Given the description of an element on the screen output the (x, y) to click on. 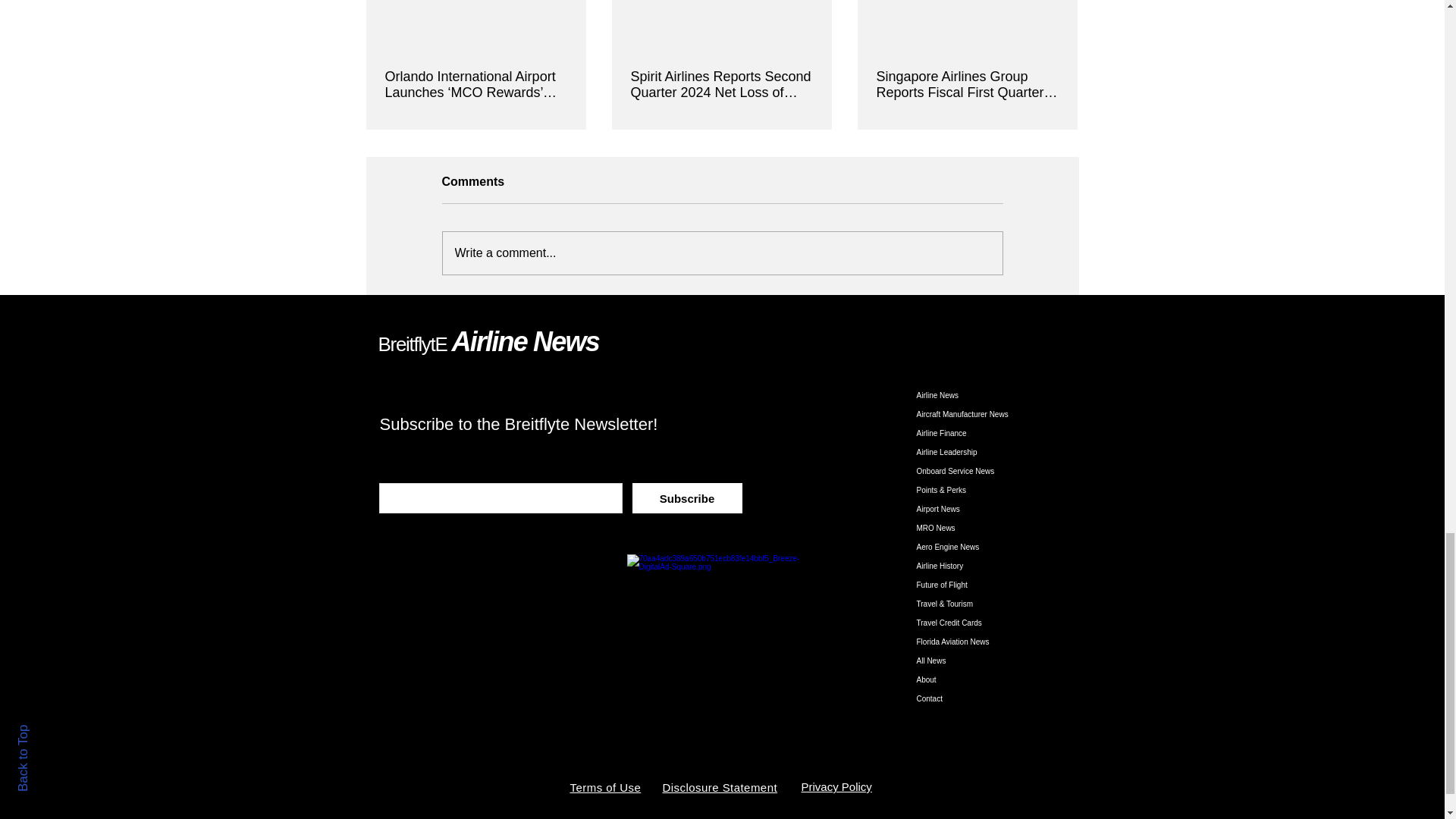
Subscribe (686, 498)
Write a comment... (722, 252)
Breit (395, 343)
